Given the description of an element on the screen output the (x, y) to click on. 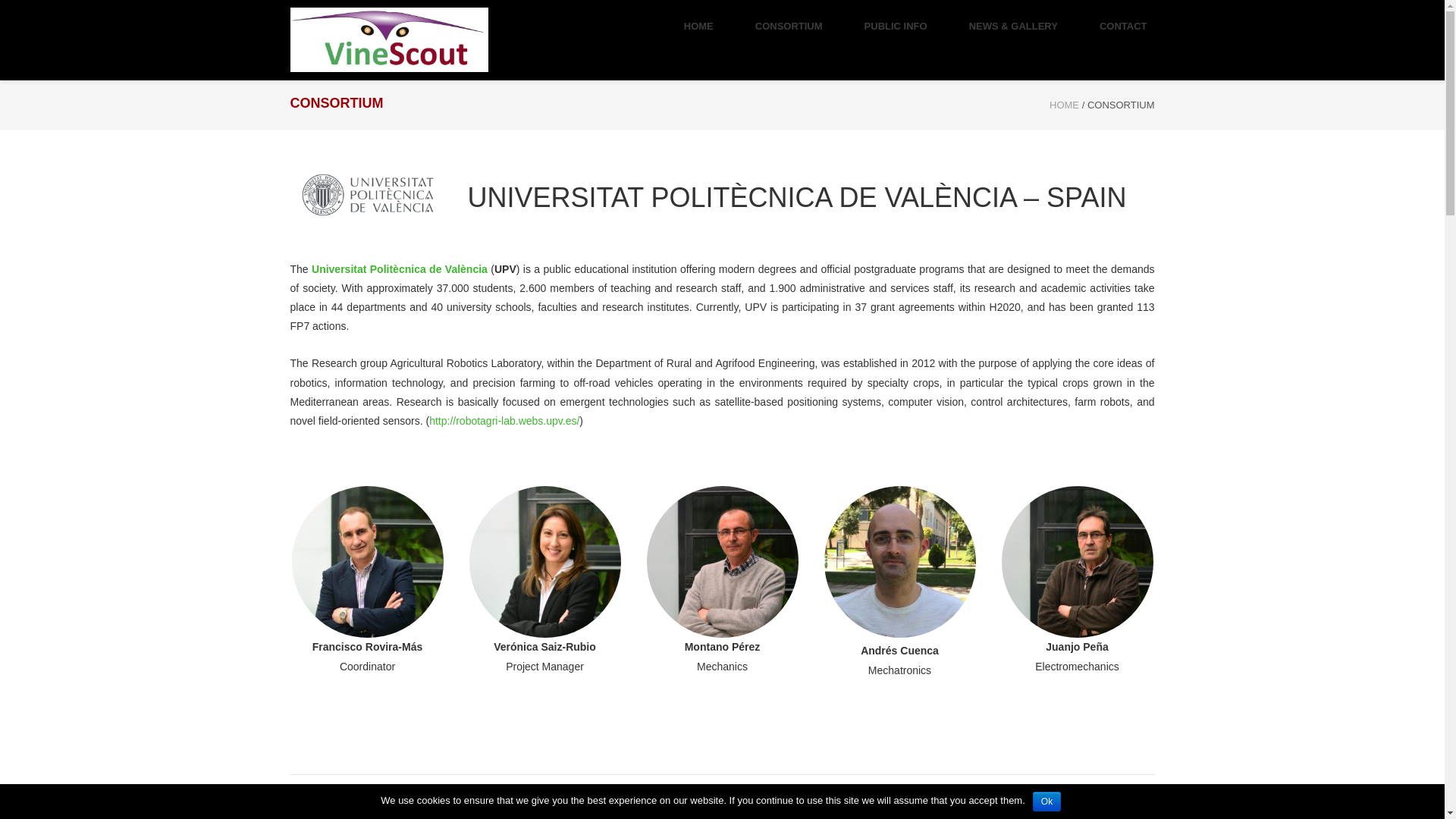
Ok (1046, 801)
PUBLIC INFO (895, 26)
HOME (1063, 104)
CONSORTIUM (788, 26)
CONTACT (1123, 26)
VineScout (1063, 104)
